Given the description of an element on the screen output the (x, y) to click on. 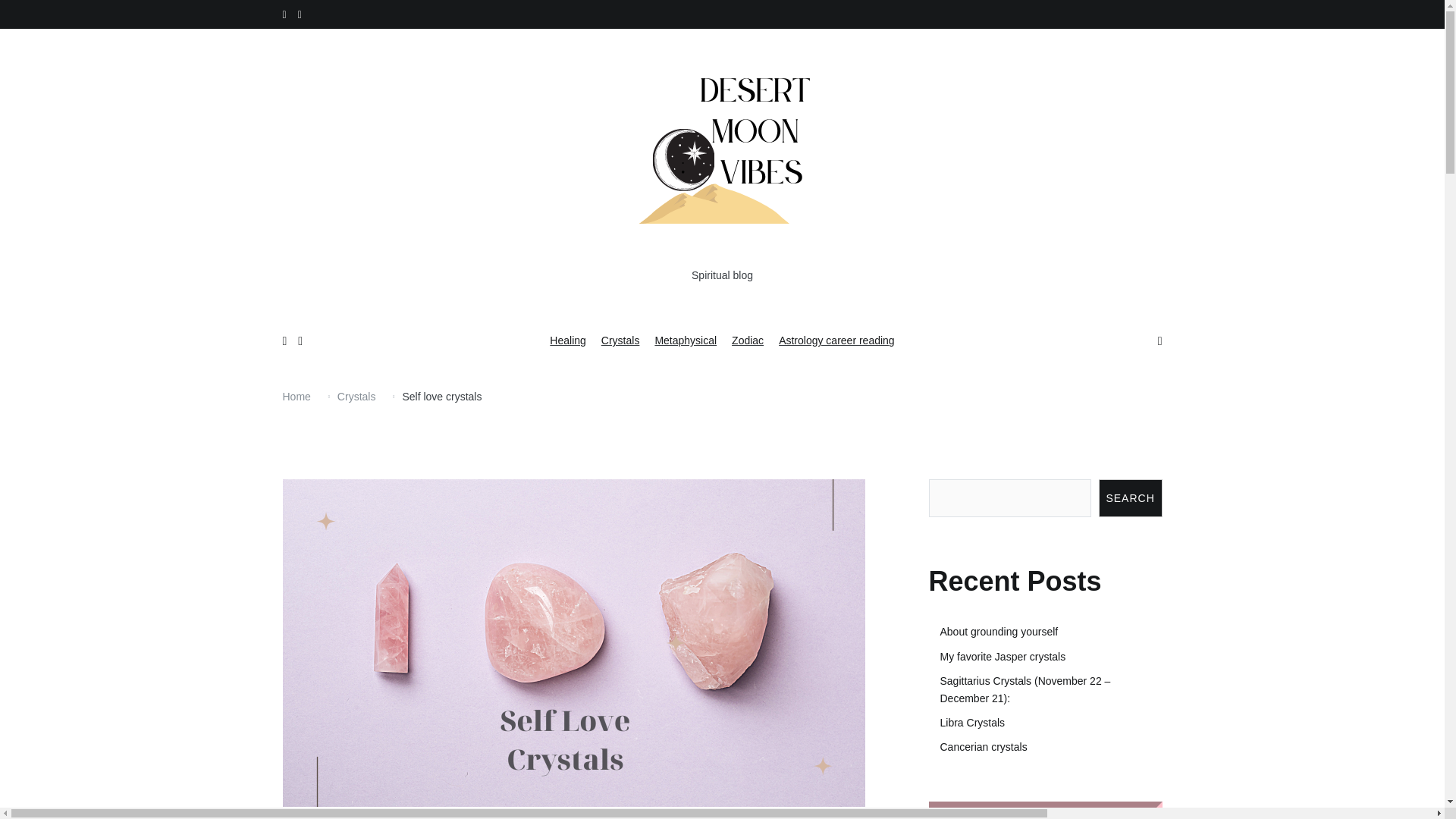
Crystals (356, 396)
Healing (567, 340)
My favorite Jasper crystals (1050, 656)
Metaphysical (684, 340)
Astrology career reading (836, 340)
About grounding yourself (1050, 631)
Libra Crystals (1050, 722)
Home (296, 396)
SEARCH (1130, 497)
Crystals (620, 340)
Cancerian crystals (1050, 746)
